Given the description of an element on the screen output the (x, y) to click on. 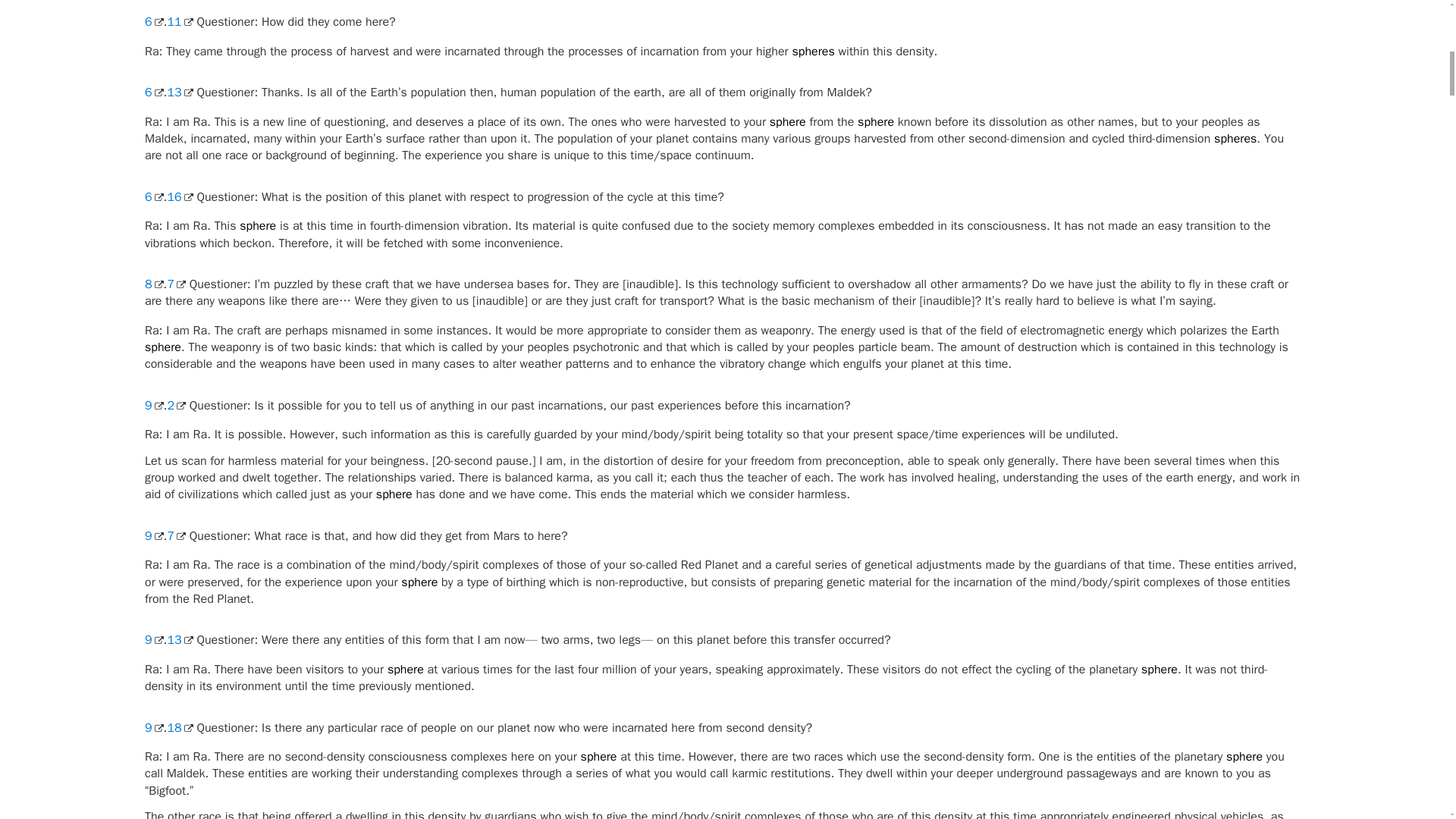
16 (179, 196)
11 (179, 21)
9 (153, 405)
7 (176, 283)
8 (153, 283)
6 (153, 21)
2 (176, 405)
13 (179, 639)
9 (153, 535)
9 (153, 639)
13 (179, 92)
6 (153, 196)
6 (153, 92)
7 (176, 535)
